Given the description of an element on the screen output the (x, y) to click on. 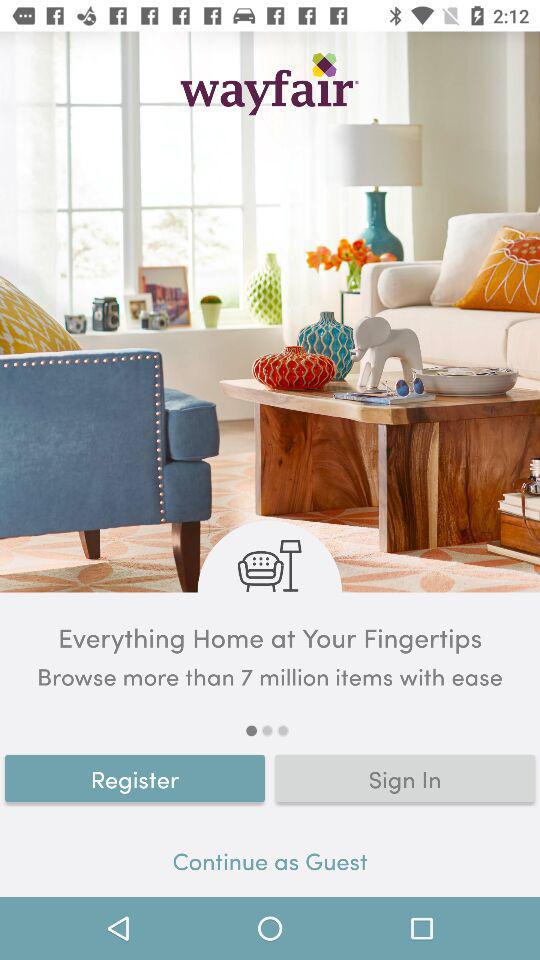
turn off icon above the continue as guest icon (135, 778)
